Given the description of an element on the screen output the (x, y) to click on. 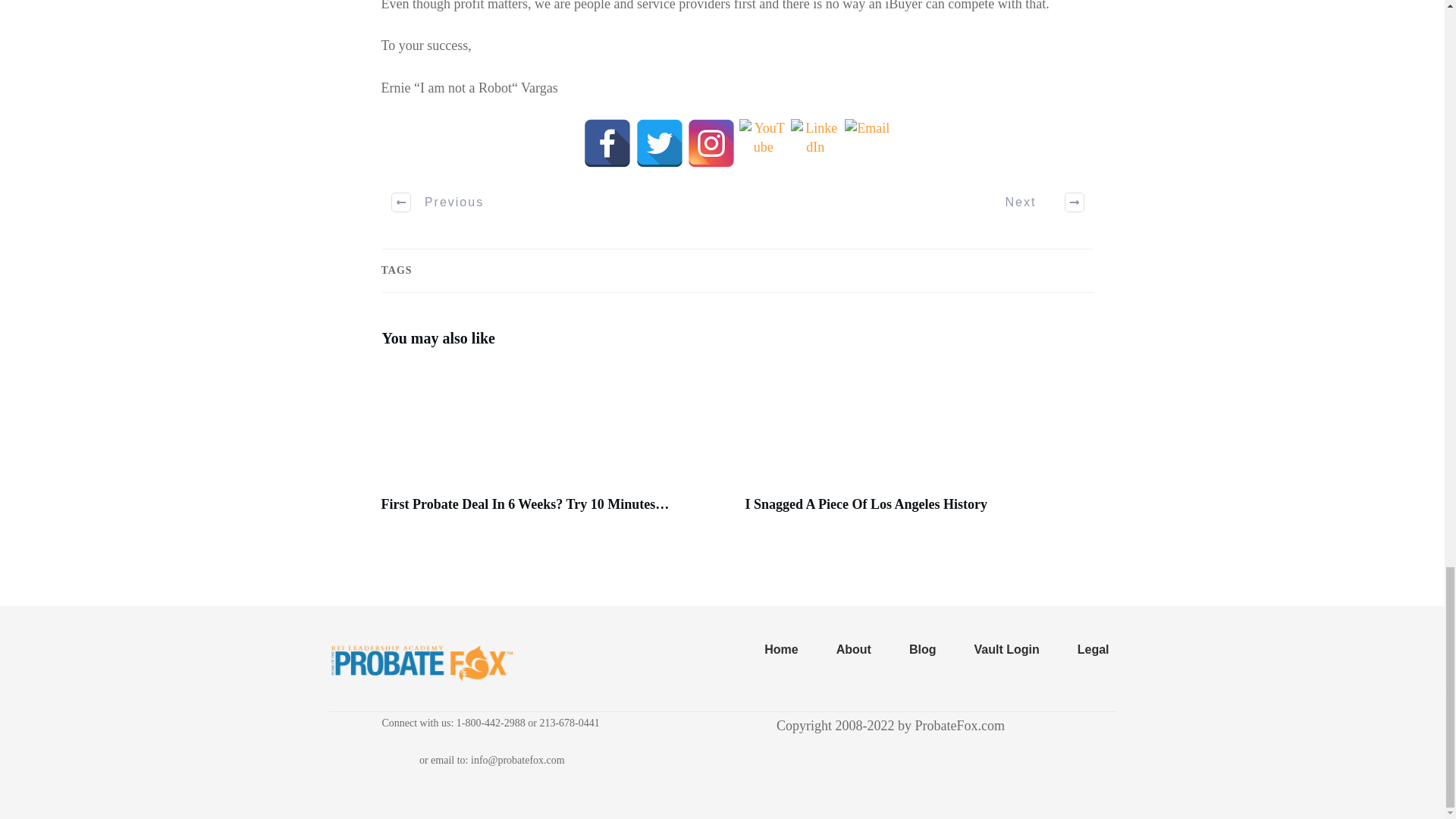
I Snagged A Piece Of Los Angeles History (865, 503)
Twitter (659, 142)
Email (867, 142)
Next (1036, 202)
LinkedIn (815, 142)
I Snagged A Piece Of Los Angeles History (865, 503)
Instagram (711, 142)
YouTube (763, 142)
I Snagged A Piece Of Los Angeles History (918, 446)
Facebook (607, 142)
